Given the description of an element on the screen output the (x, y) to click on. 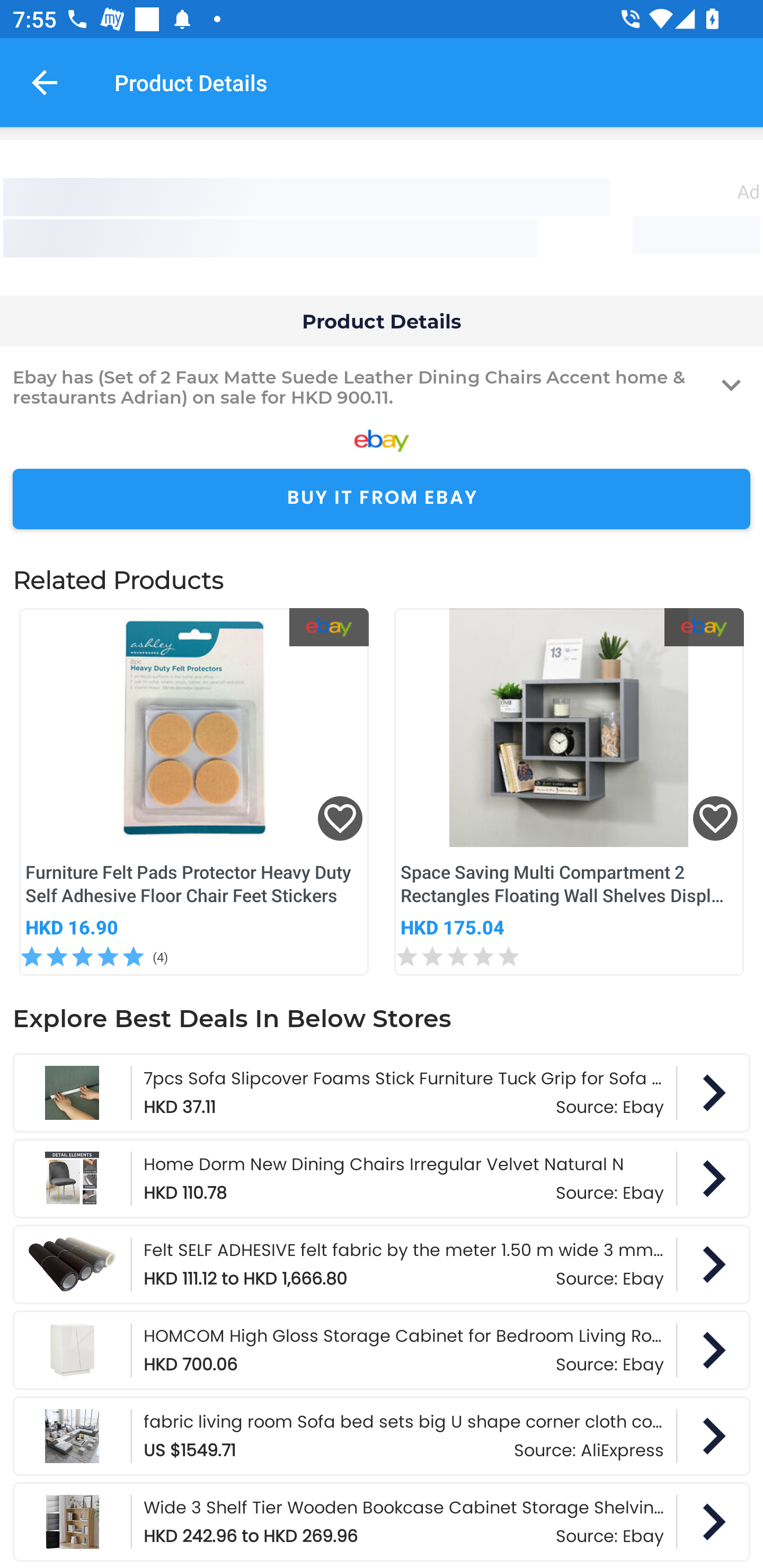
Navigate up (44, 82)
BUY IT FROM EBAY (381, 499)
